Given the description of an element on the screen output the (x, y) to click on. 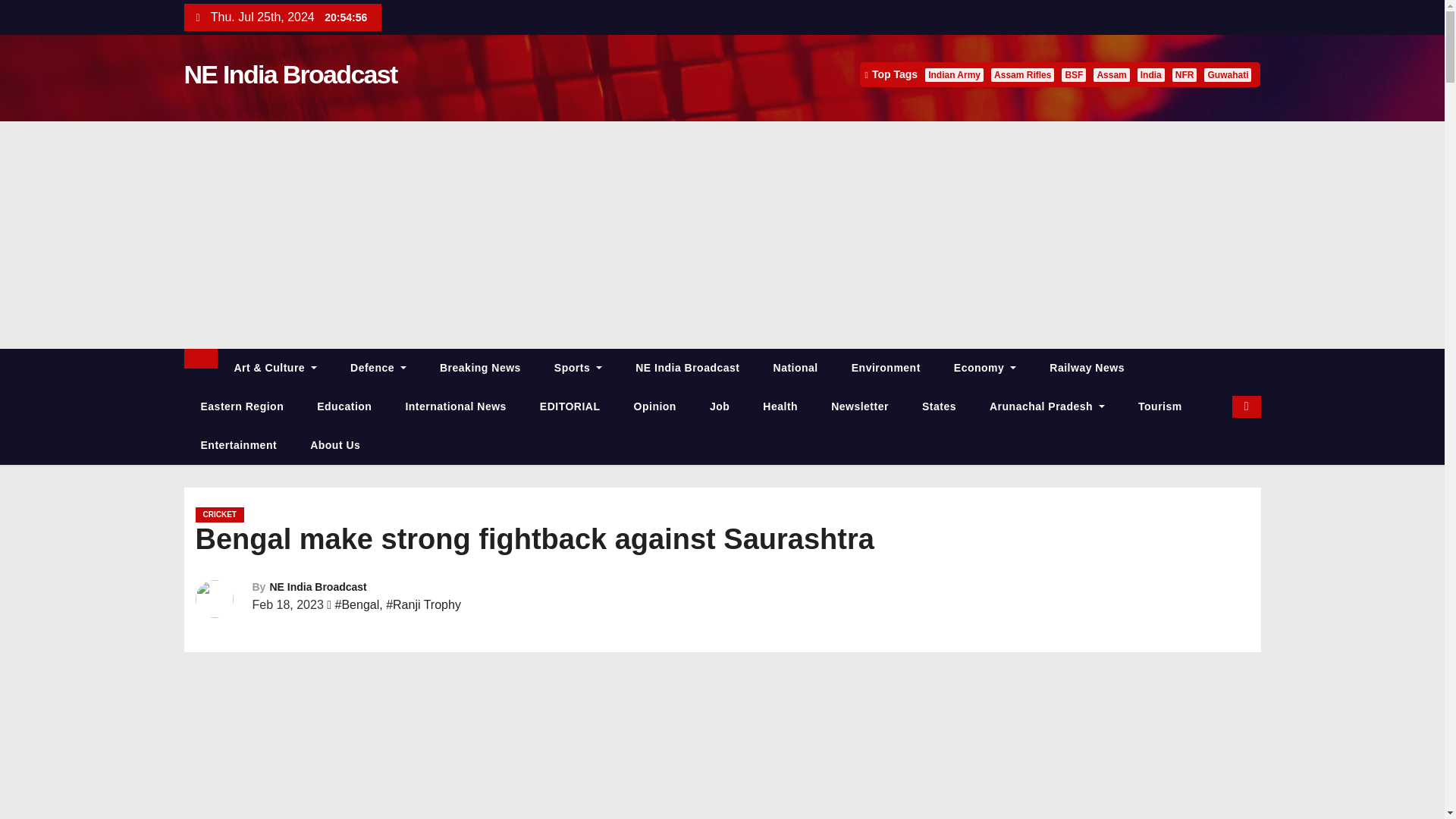
Health (779, 406)
Guwahati (1227, 74)
Breaking News (480, 367)
Defence (378, 367)
India (1150, 74)
Assam (1111, 74)
Sports (577, 367)
Economy (984, 367)
Home (199, 358)
Breaking News (480, 367)
National (795, 367)
Opinion (655, 406)
States (938, 406)
Defence (378, 367)
